Given the description of an element on the screen output the (x, y) to click on. 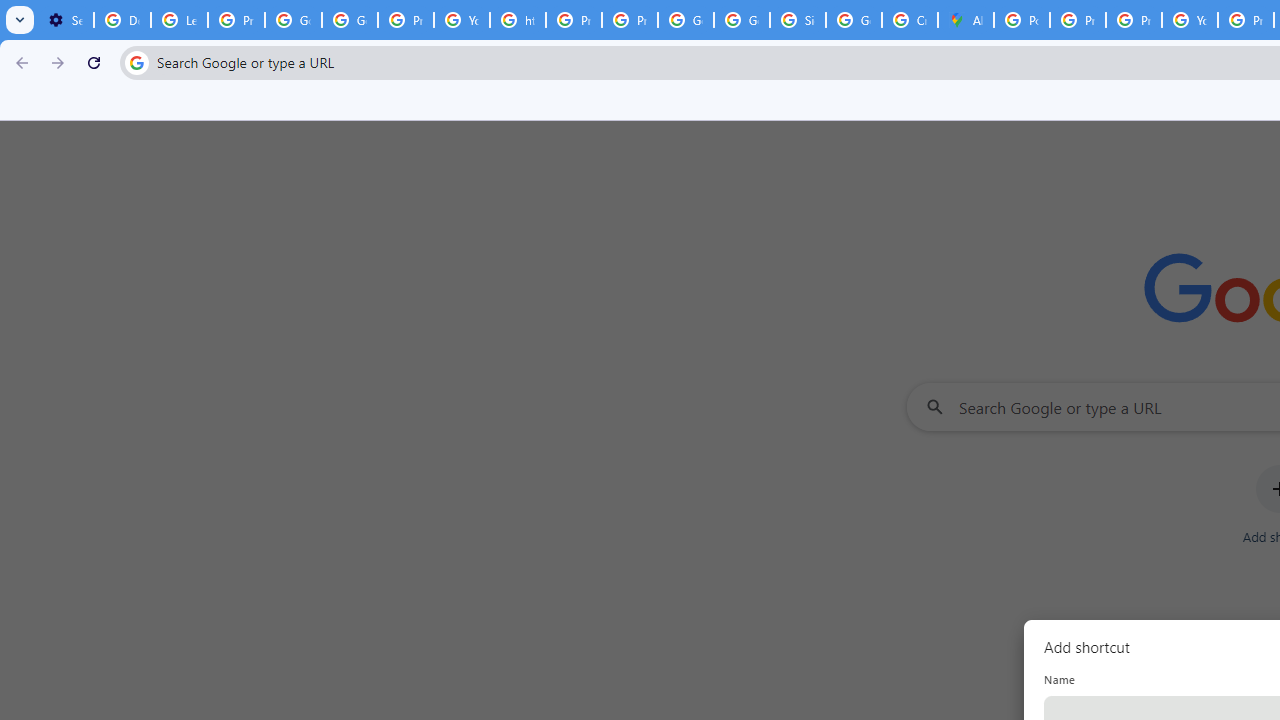
Settings - On startup (65, 20)
YouTube (461, 20)
Create your Google Account (909, 20)
Sign in - Google Accounts (797, 20)
Privacy Help Center - Policies Help (573, 20)
